Given the description of an element on the screen output the (x, y) to click on. 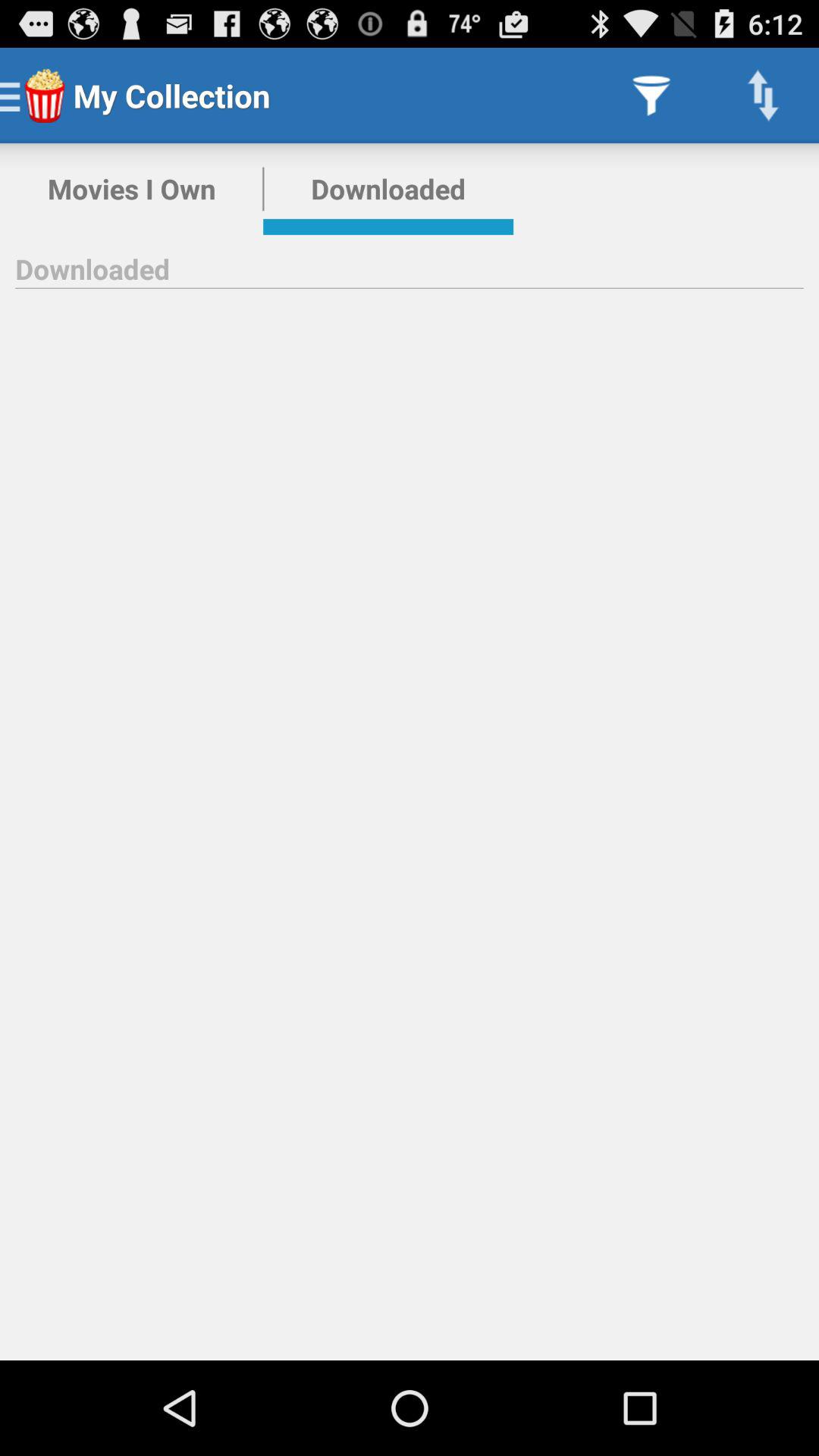
turn on downloaded icon (388, 188)
